Given the description of an element on the screen output the (x, y) to click on. 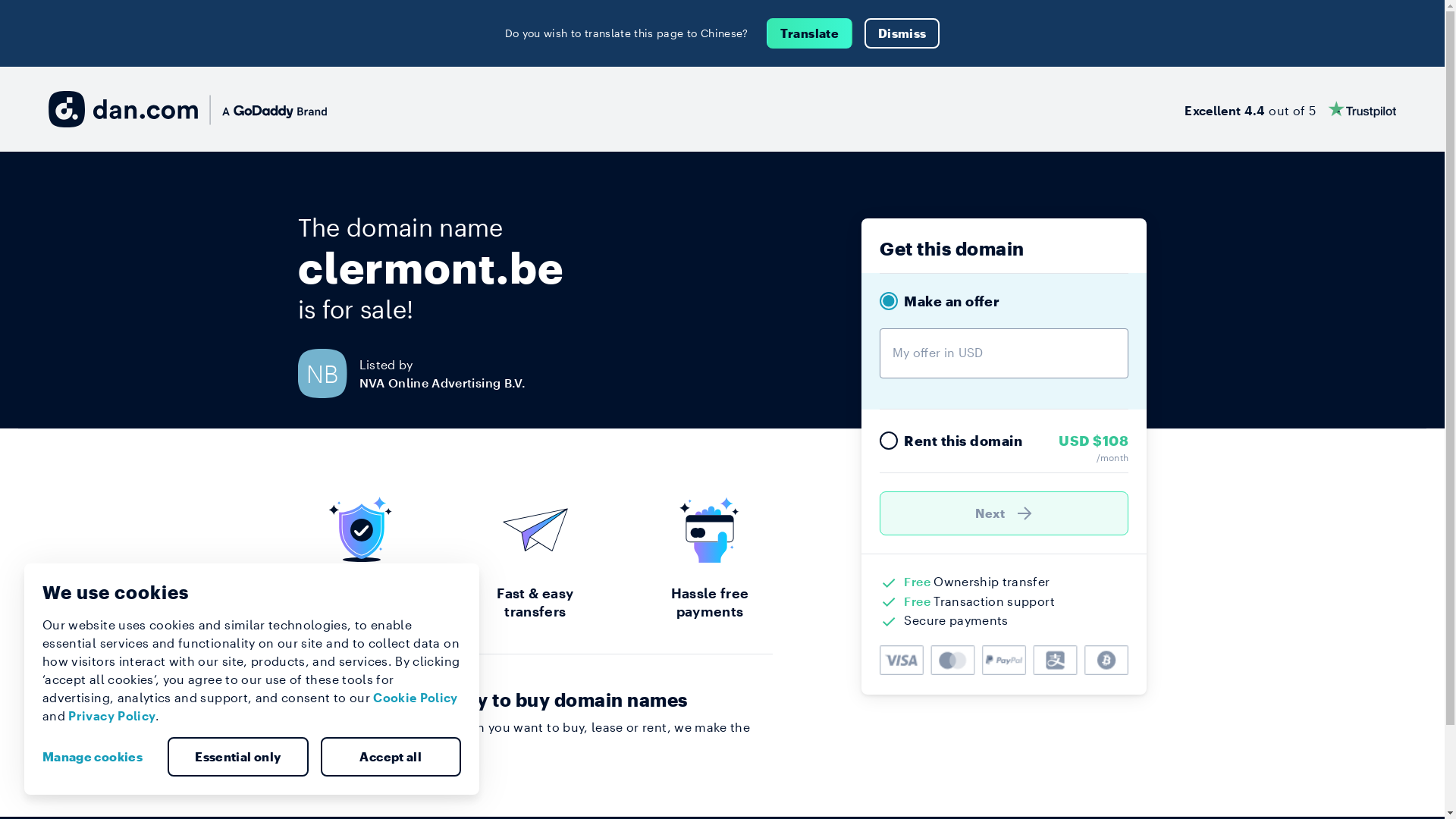
Cookie Policy Element type: text (415, 697)
Translate Element type: text (809, 33)
Dismiss Element type: text (901, 33)
Accept all Element type: text (390, 756)
Excellent 4.4 out of 5 Element type: text (1290, 109)
Essential only Element type: text (237, 756)
Privacy Policy Element type: text (111, 715)
Next
) Element type: text (1003, 513)
Manage cookies Element type: text (98, 756)
